Given the description of an element on the screen output the (x, y) to click on. 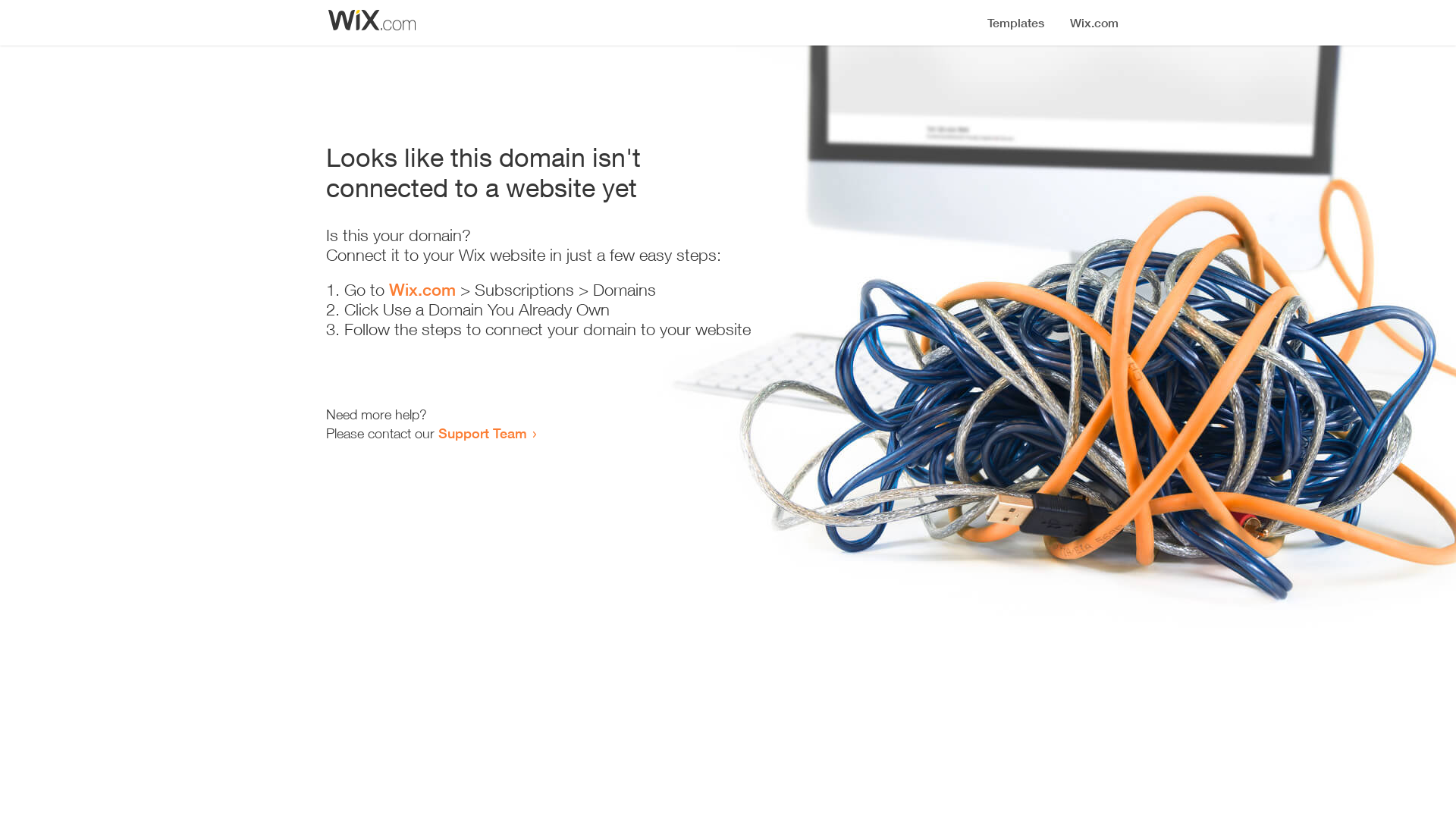
Support Team Element type: text (482, 432)
Wix.com Element type: text (422, 289)
